Given the description of an element on the screen output the (x, y) to click on. 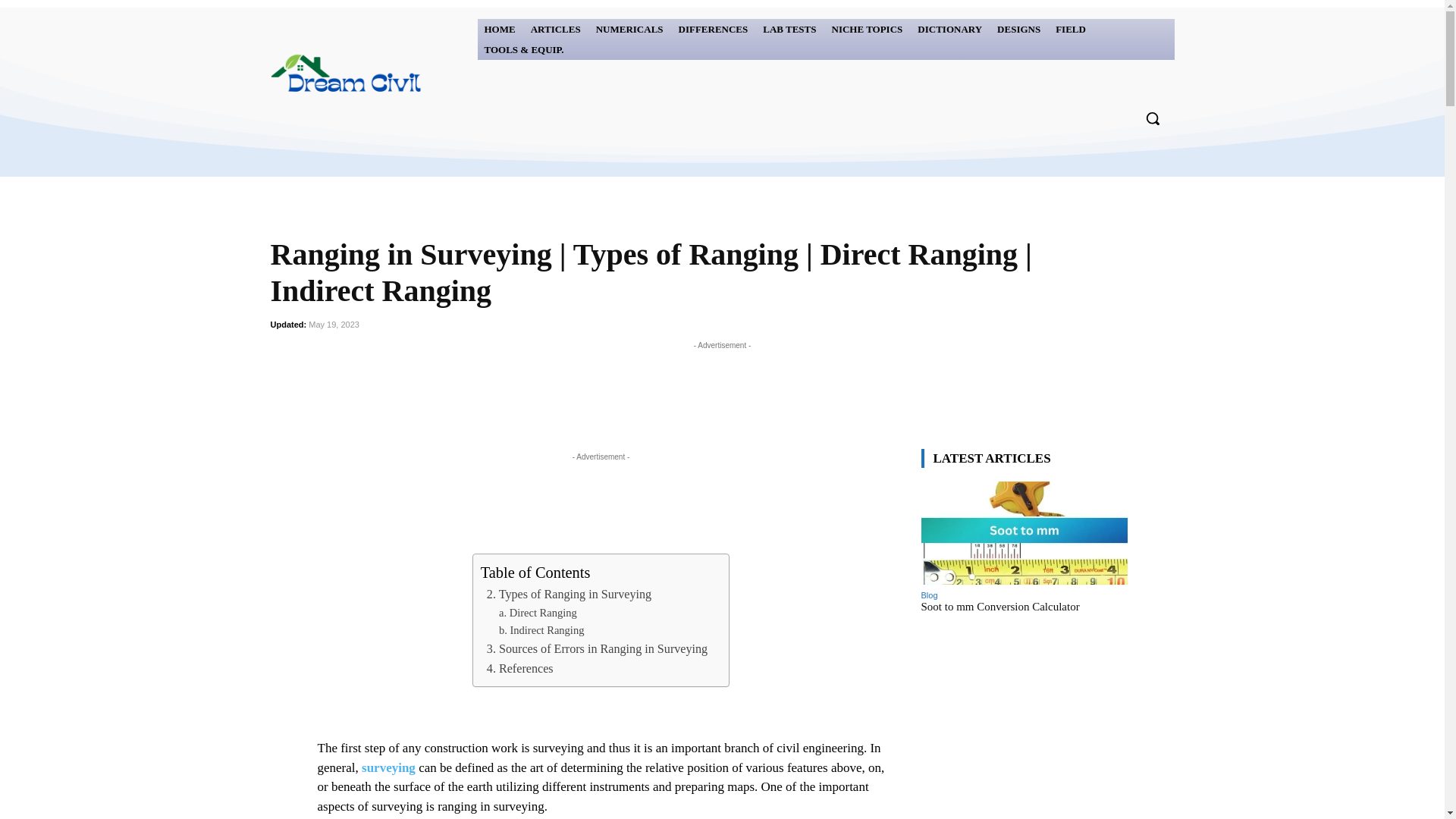
Advertisement (721, 386)
NICHE TOPICS (867, 28)
NUMERICALS (629, 28)
DIFFERENCES (713, 28)
DESIGNS (1018, 28)
DICTIONARY (949, 28)
LAB TESTS (788, 28)
